Given the description of an element on the screen output the (x, y) to click on. 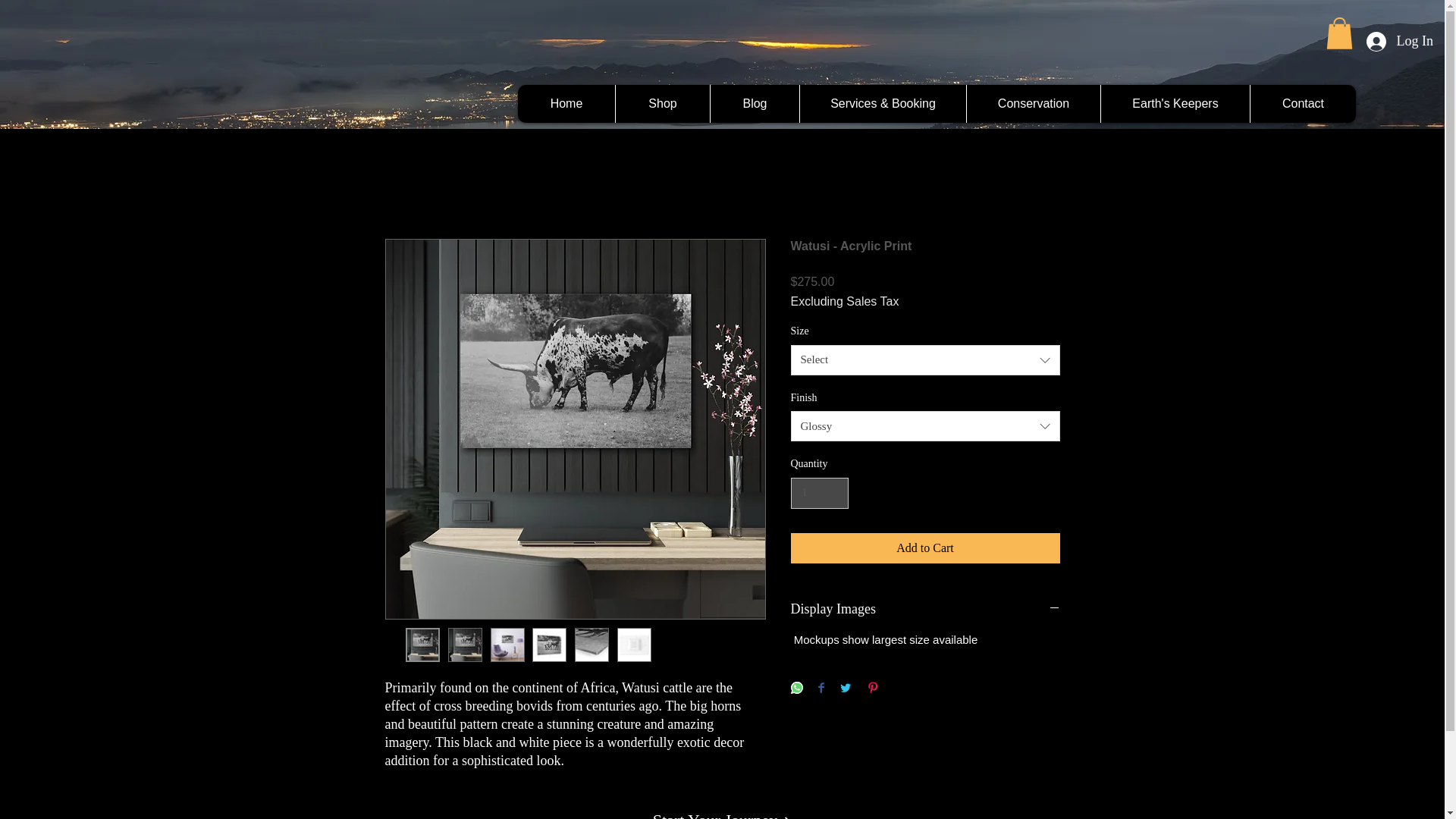
Display Images (924, 609)
Conservation (1033, 103)
Glossy (924, 426)
Select (924, 359)
Add to Cart (924, 548)
Contact (1302, 103)
Blog (754, 103)
Home (566, 103)
1 (818, 492)
Earth's Keepers (1174, 103)
Shop (662, 103)
